Given the description of an element on the screen output the (x, y) to click on. 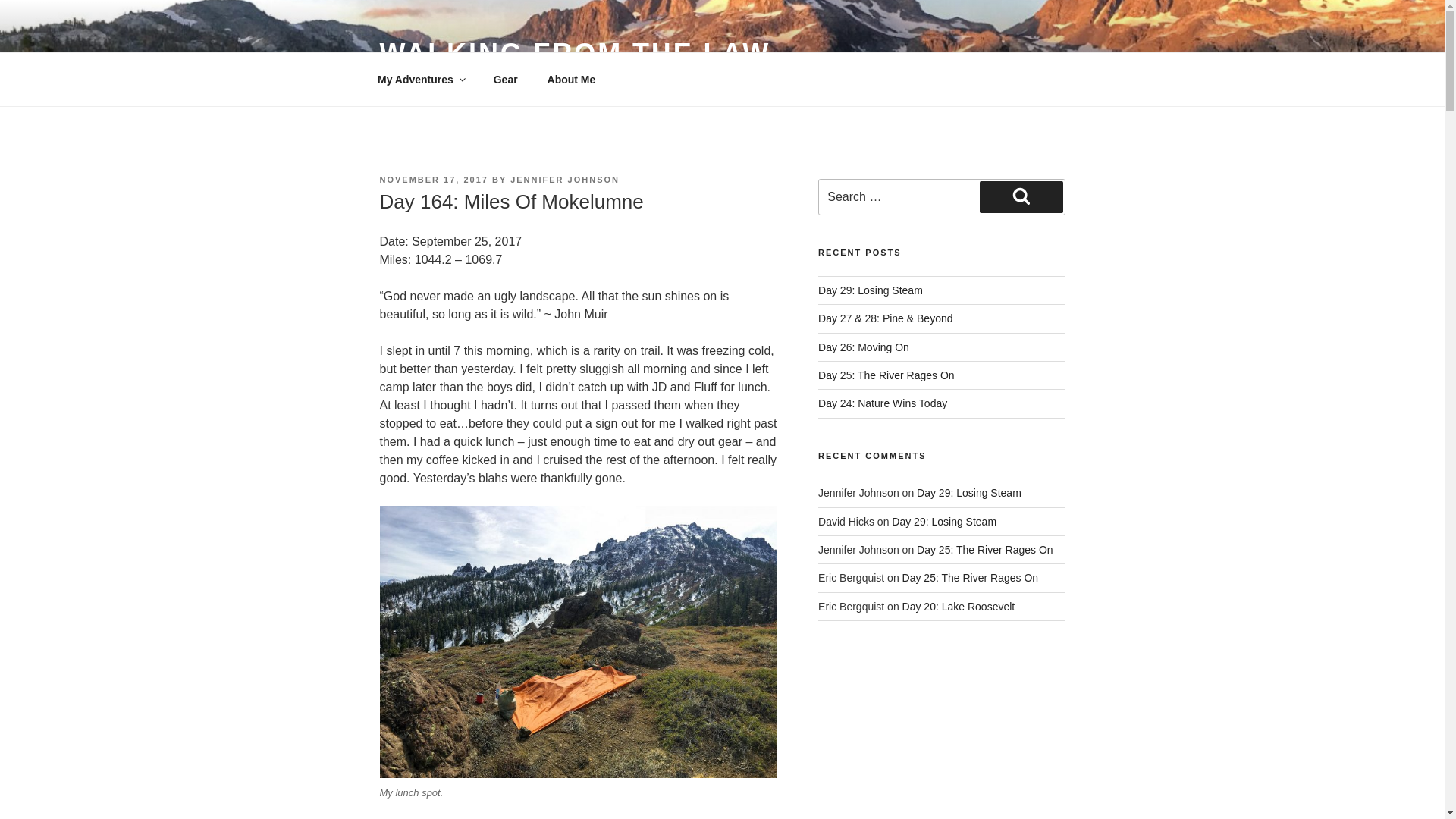
Day 25: The River Rages On (984, 549)
WALKING FROM THE LAW (574, 52)
Day 24: Nature Wins Today (882, 403)
NOVEMBER 17, 2017 (432, 179)
About Me (571, 78)
Gear (505, 78)
Day 29: Losing Steam (943, 521)
Day 25: The River Rages On (970, 577)
Day 29: Losing Steam (969, 492)
Day 29: Losing Steam (870, 290)
